Given the description of an element on the screen output the (x, y) to click on. 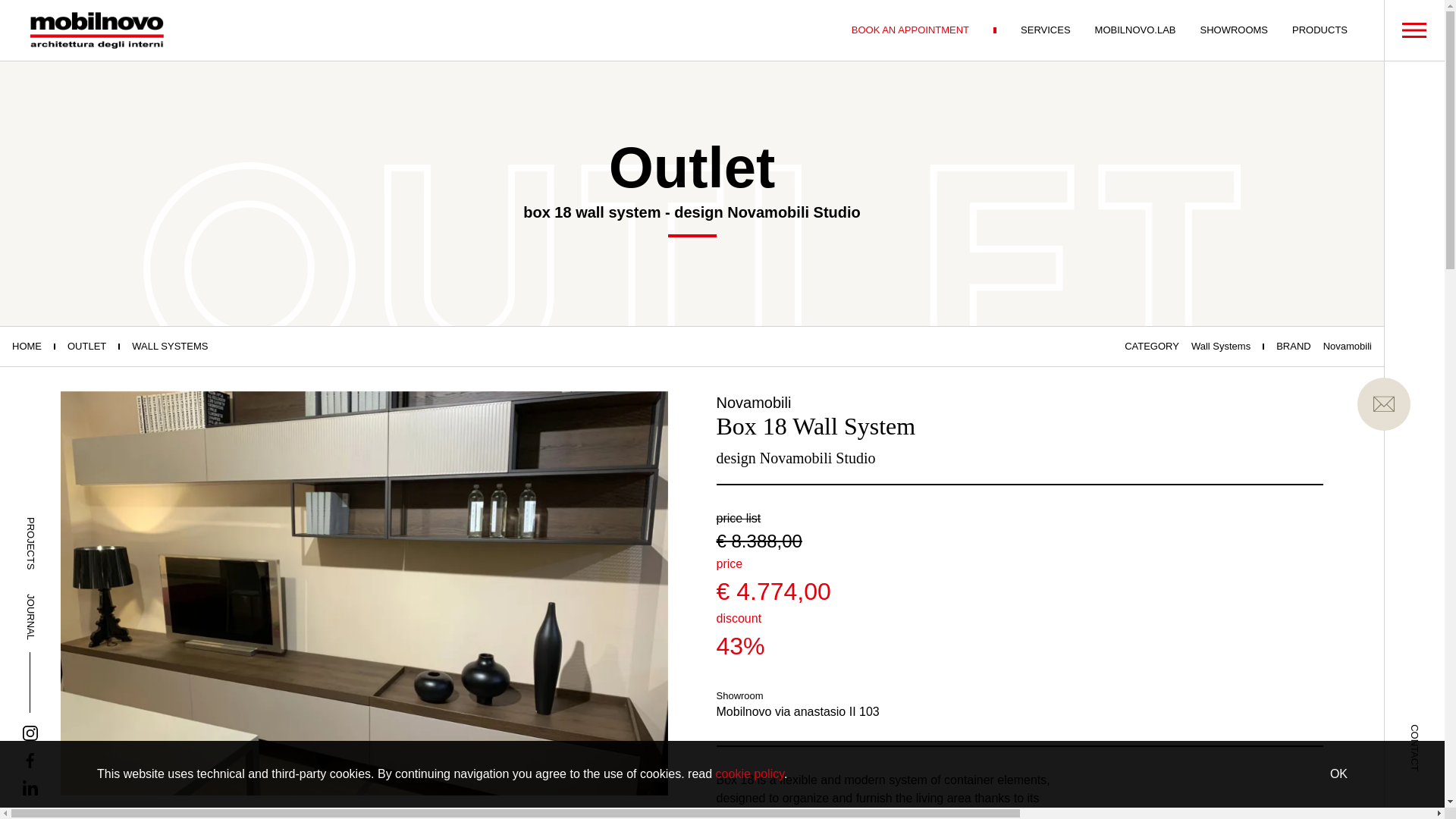
Mobilnovo Instagram (30, 733)
outlet (86, 346)
mobilnovo.lab (1135, 30)
home (26, 346)
Mobilnovo Facebook (30, 760)
